Given the description of an element on the screen output the (x, y) to click on. 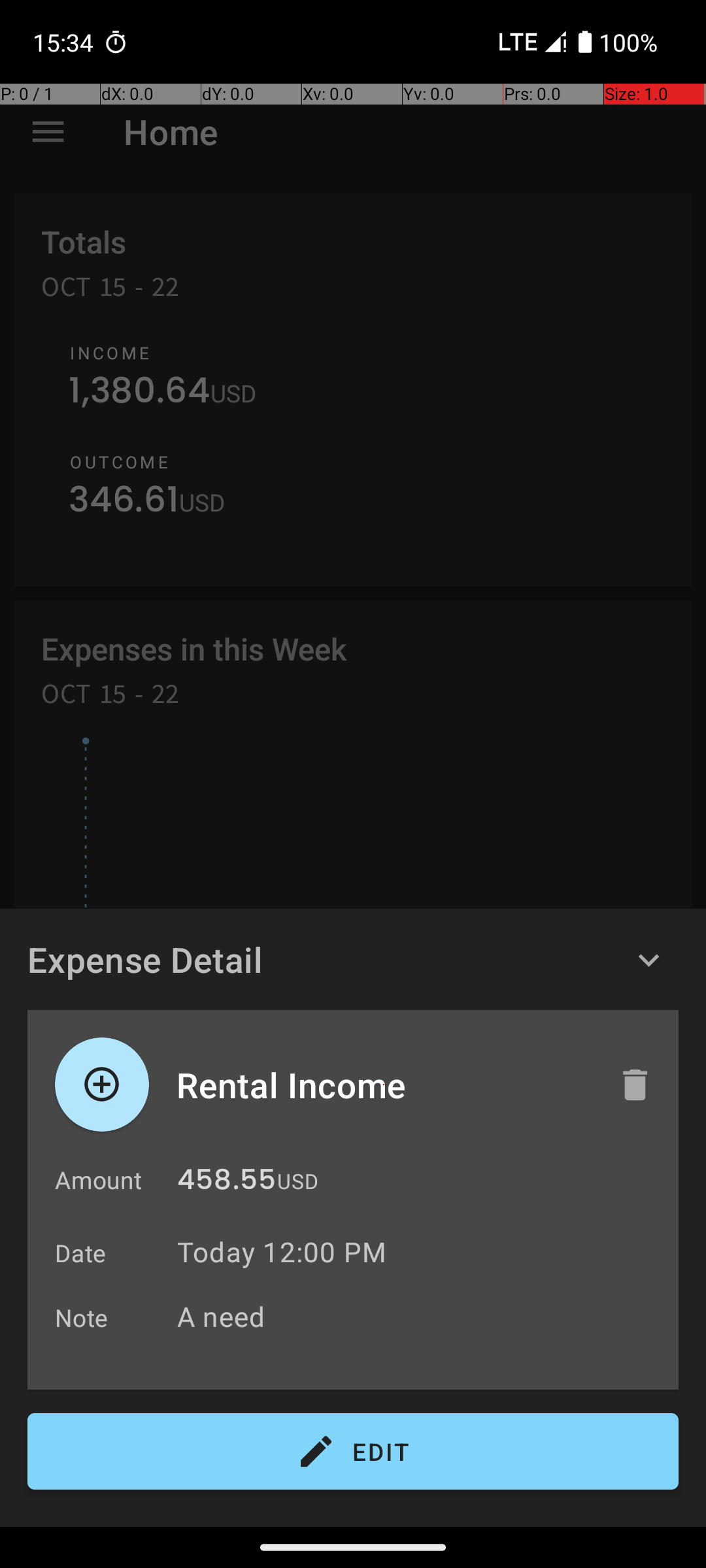
458.55 Element type: android.widget.TextView (226, 1182)
Today 12:00 PM Element type: android.widget.TextView (281, 1251)
